Given the description of an element on the screen output the (x, y) to click on. 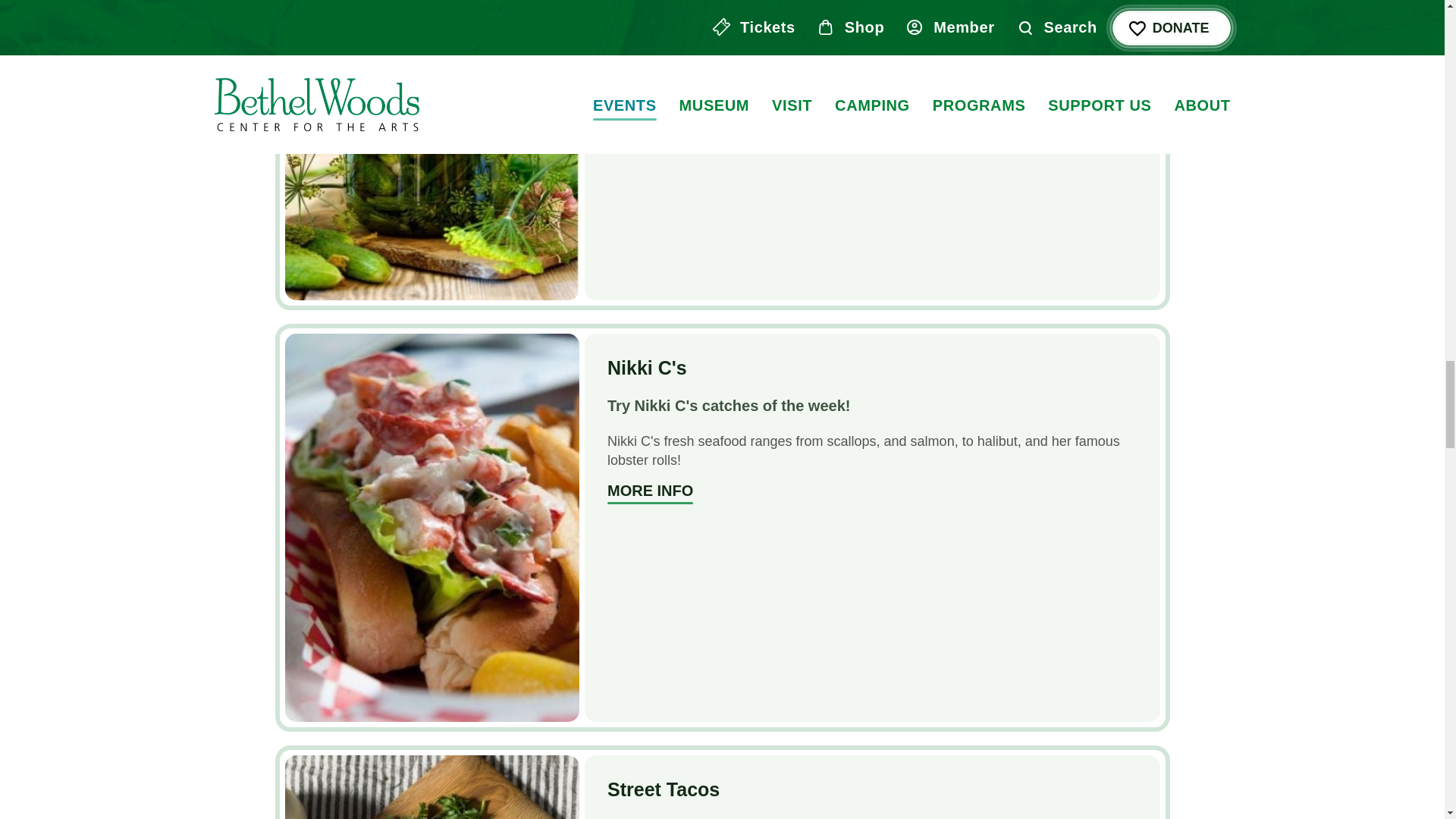
Eddie's Pickles (432, 150)
Street Tacos (663, 789)
Eddie's Pickles (650, 124)
Nikki C's (647, 367)
Nikki C's (650, 493)
